Given the description of an element on the screen output the (x, y) to click on. 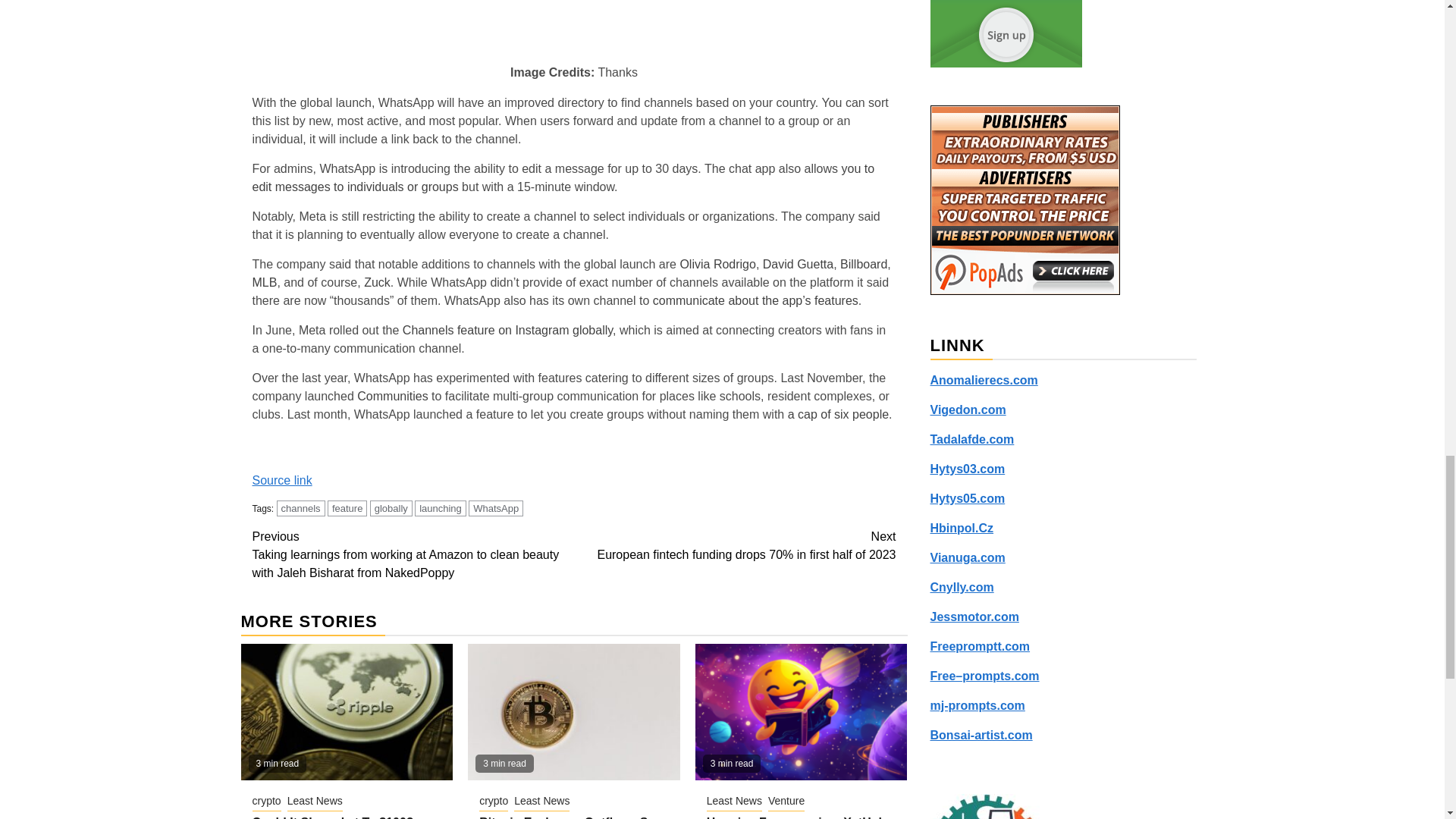
MLB (263, 282)
Billboard (863, 264)
Zuck (377, 282)
David Guetta (797, 264)
Communities (392, 395)
a cap of six people (837, 413)
Channels feature on Instagram globally (507, 329)
Olivia Rodrigo (717, 264)
you to edit messages to individuals or groups (563, 177)
